Given the description of an element on the screen output the (x, y) to click on. 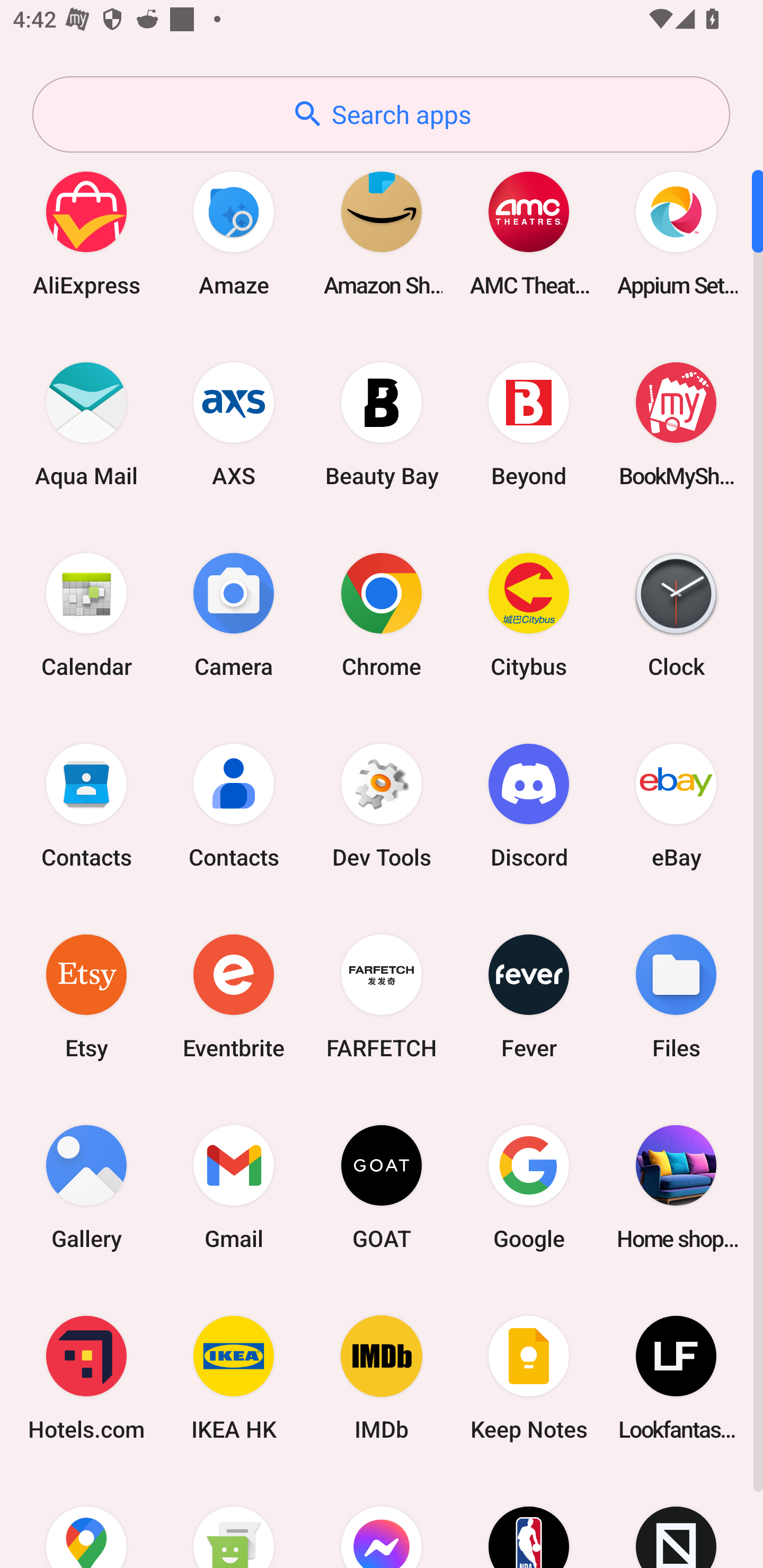
  Search apps (381, 114)
AliExpress (86, 233)
Amaze (233, 233)
Amazon Shopping (381, 233)
AMC Theatres (528, 233)
Appium Settings (676, 233)
Aqua Mail (86, 424)
AXS (233, 424)
Beauty Bay (381, 424)
Beyond (528, 424)
BookMyShow (676, 424)
Calendar (86, 614)
Camera (233, 614)
Chrome (381, 614)
Citybus (528, 614)
Clock (676, 614)
Contacts (86, 805)
Contacts (233, 805)
Dev Tools (381, 805)
Discord (528, 805)
eBay (676, 805)
Etsy (86, 996)
Eventbrite (233, 996)
FARFETCH (381, 996)
Fever (528, 996)
Files (676, 996)
Gallery (86, 1186)
Gmail (233, 1186)
GOAT (381, 1186)
Google (528, 1186)
Home shopping (676, 1186)
Hotels.com (86, 1377)
IKEA HK (233, 1377)
IMDb (381, 1377)
Keep Notes (528, 1377)
Lookfantastic (676, 1377)
